Given the description of an element on the screen output the (x, y) to click on. 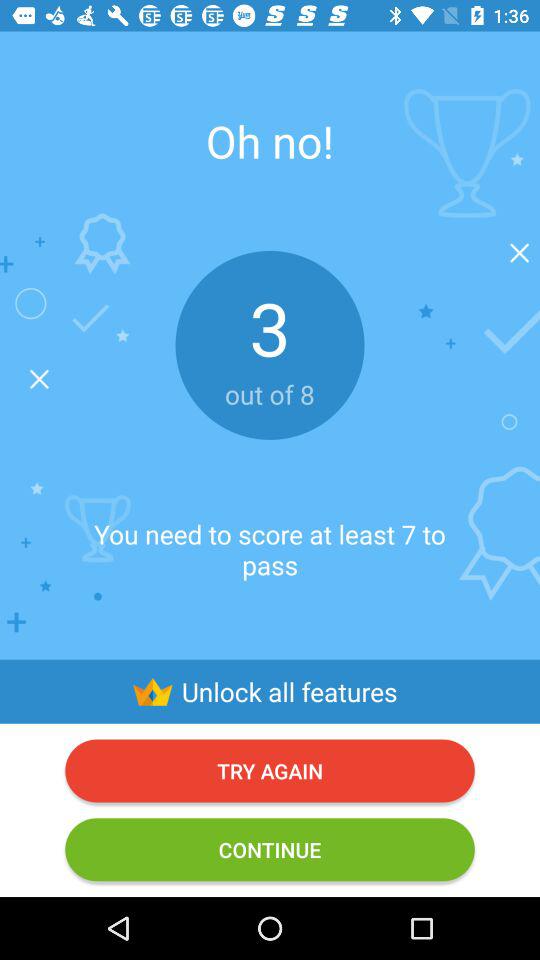
turn off the icon above continue (269, 770)
